Given the description of an element on the screen output the (x, y) to click on. 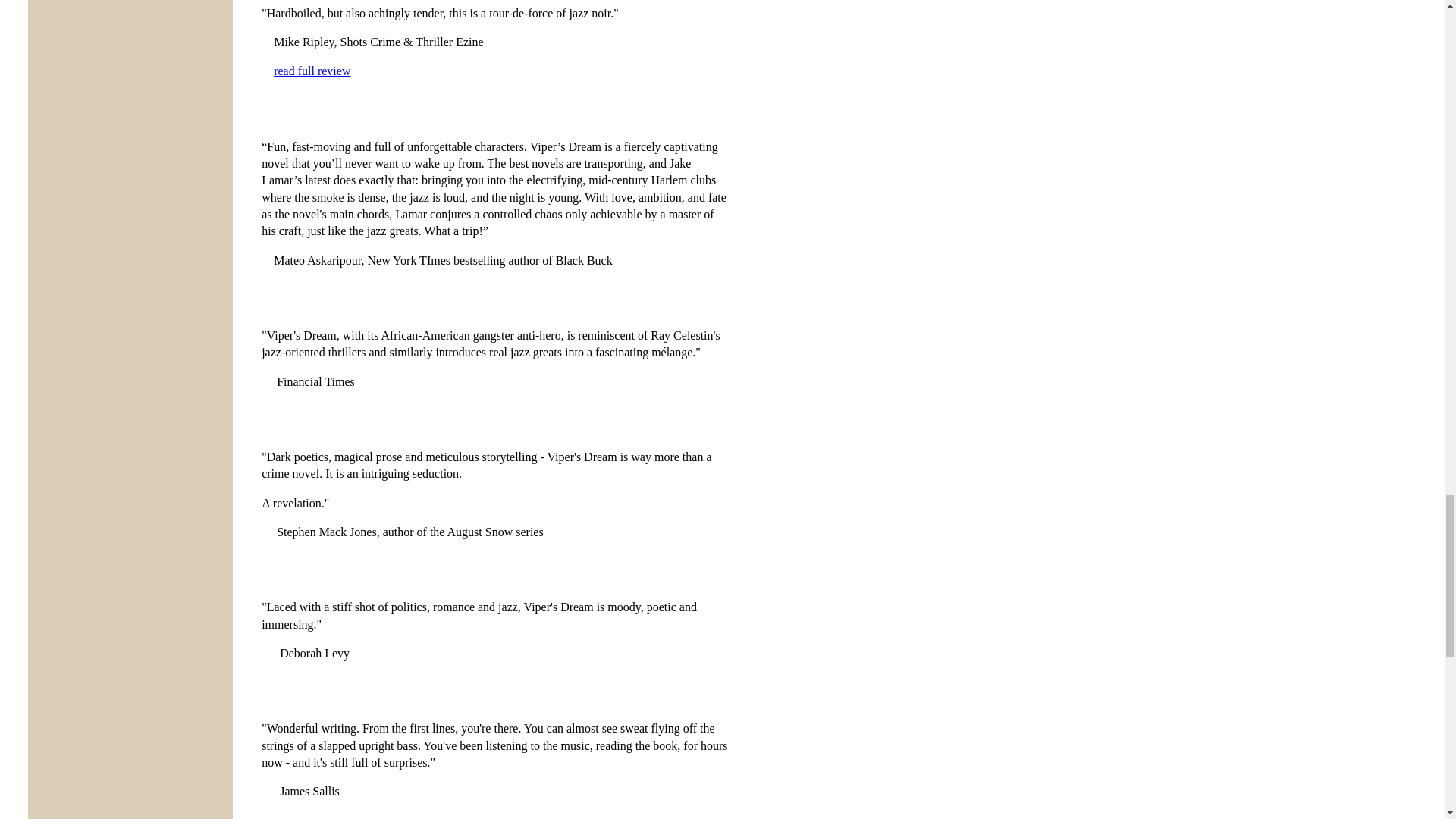
read full review (311, 70)
